Given the description of an element on the screen output the (x, y) to click on. 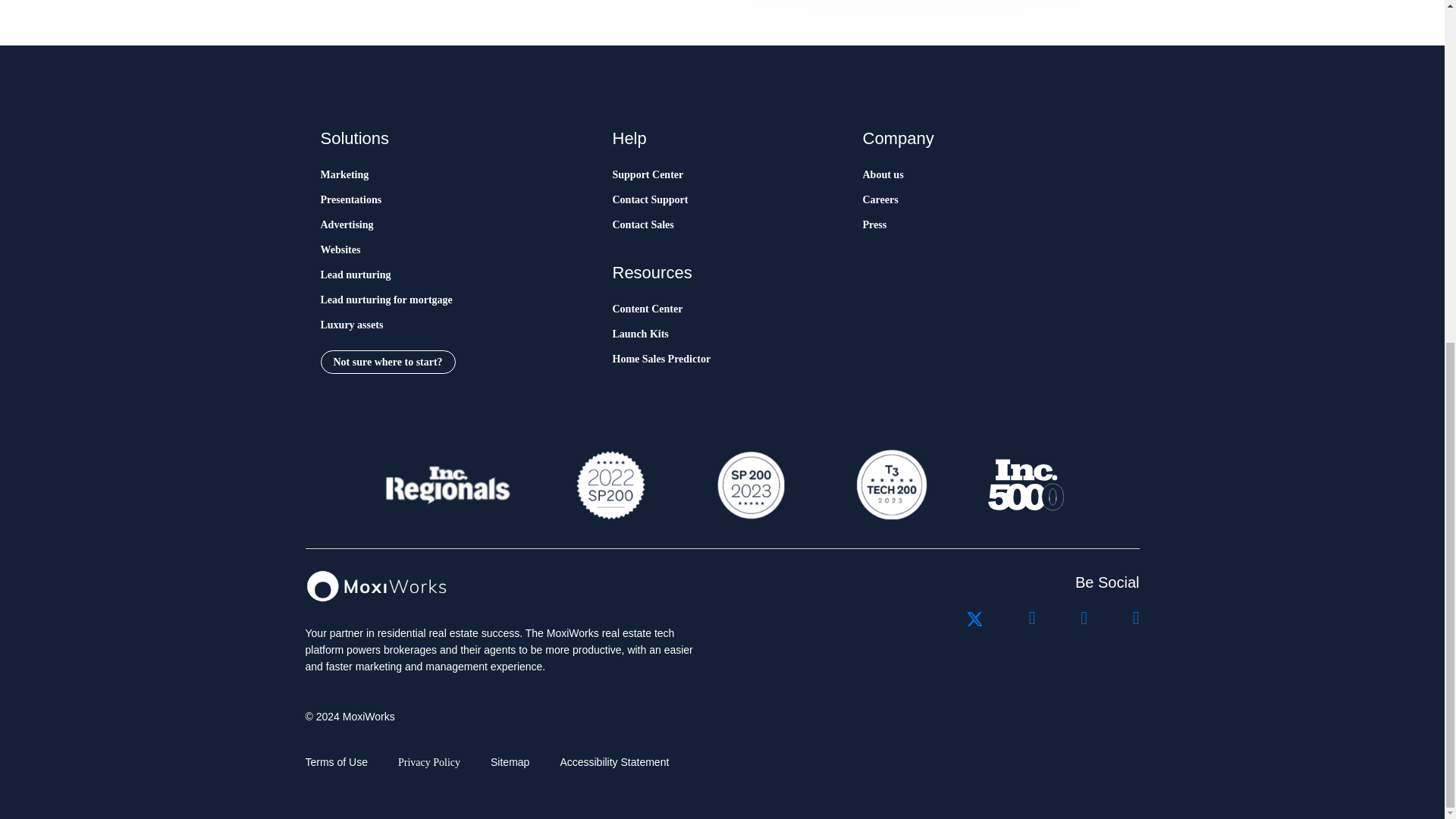
T3 tech 200 2023 (890, 484)
SP 2022 (610, 484)
SP 2023 (749, 484)
